Given the description of an element on the screen output the (x, y) to click on. 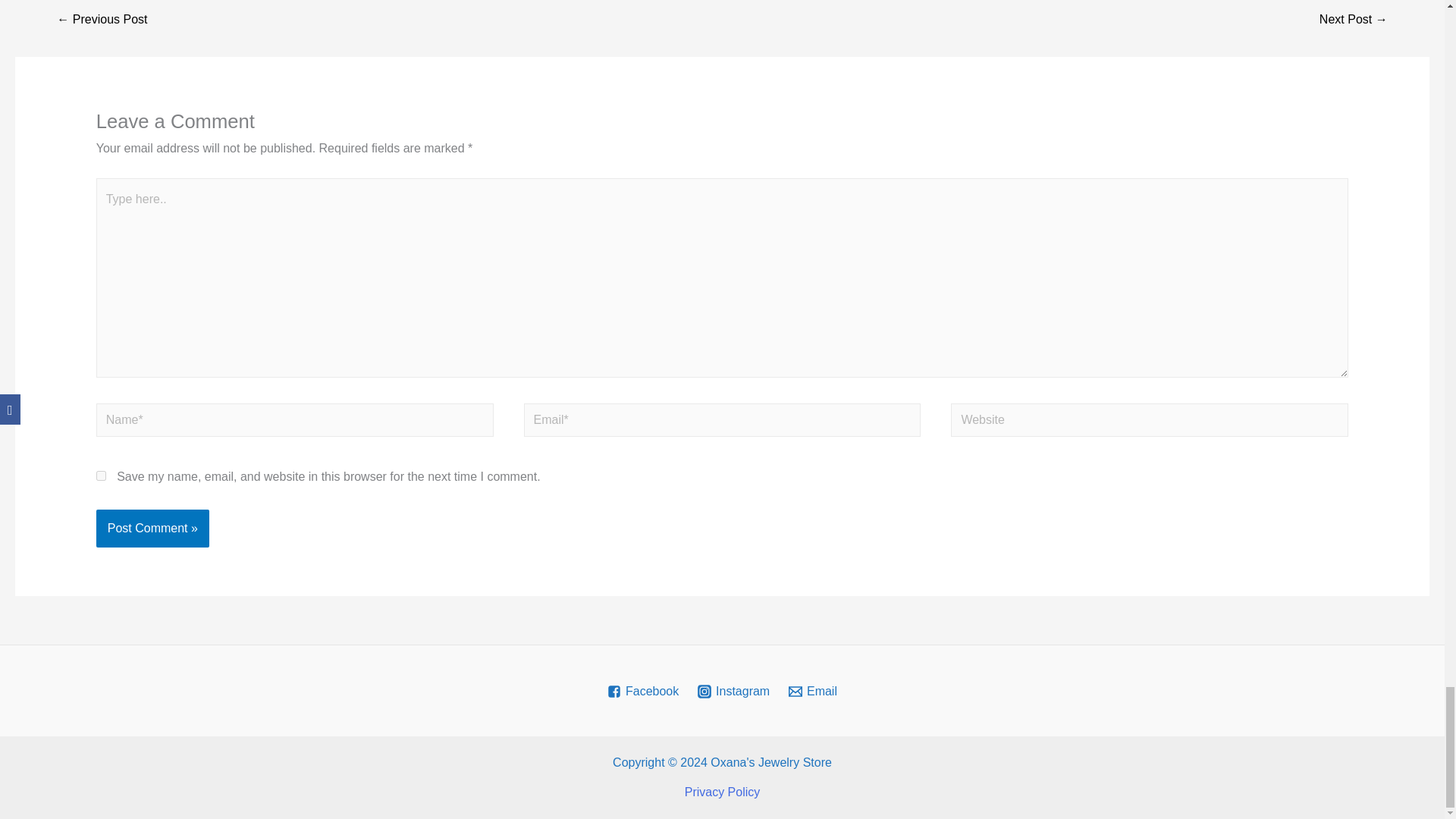
yes (101, 475)
